Given the description of an element on the screen output the (x, y) to click on. 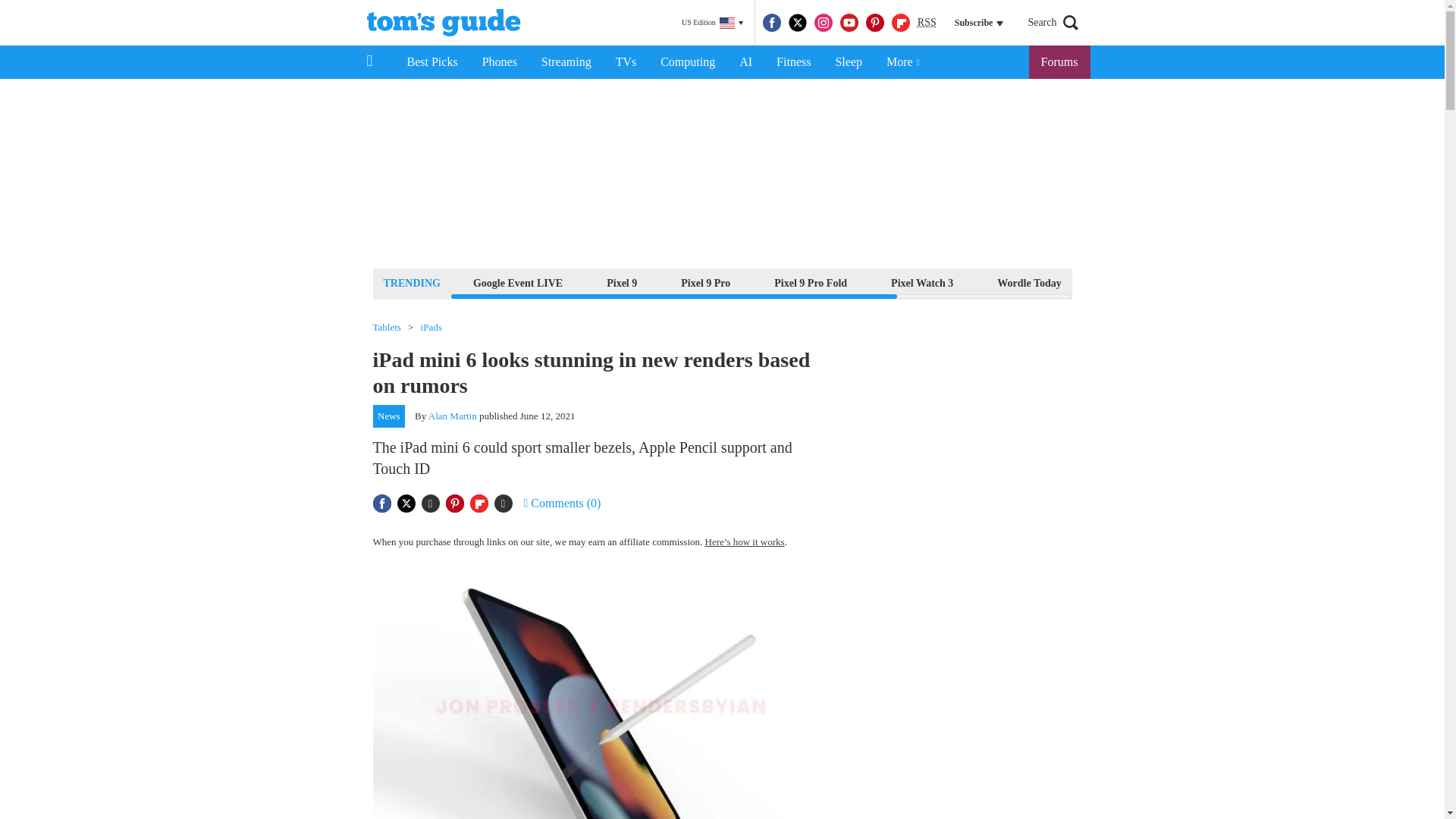
AI (745, 61)
Streaming (566, 61)
Fitness (793, 61)
Phones (499, 61)
Really Simple Syndication (926, 21)
Computing (686, 61)
US Edition (712, 22)
RSS (926, 22)
Sleep (848, 61)
TVs (626, 61)
